Given the description of an element on the screen output the (x, y) to click on. 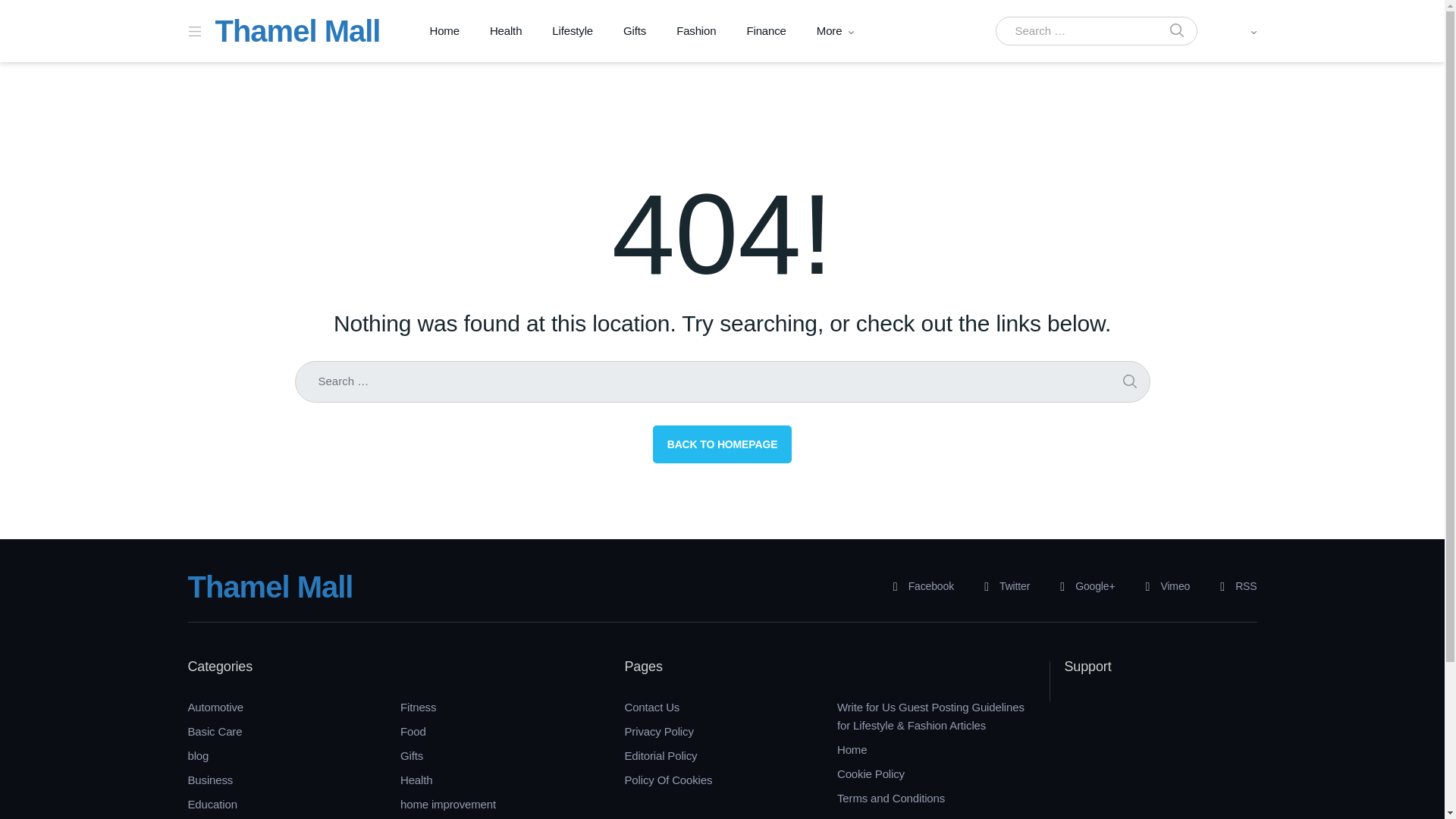
More (829, 31)
SEARCH (1128, 381)
Home (443, 31)
Lifestyle (572, 31)
SEARCH (1176, 31)
Thamel Mall (297, 30)
Fashion (695, 31)
Facebook (917, 586)
BACK TO HOMEPAGE (722, 443)
Health (505, 31)
Thamel Mall (270, 586)
